Given the description of an element on the screen output the (x, y) to click on. 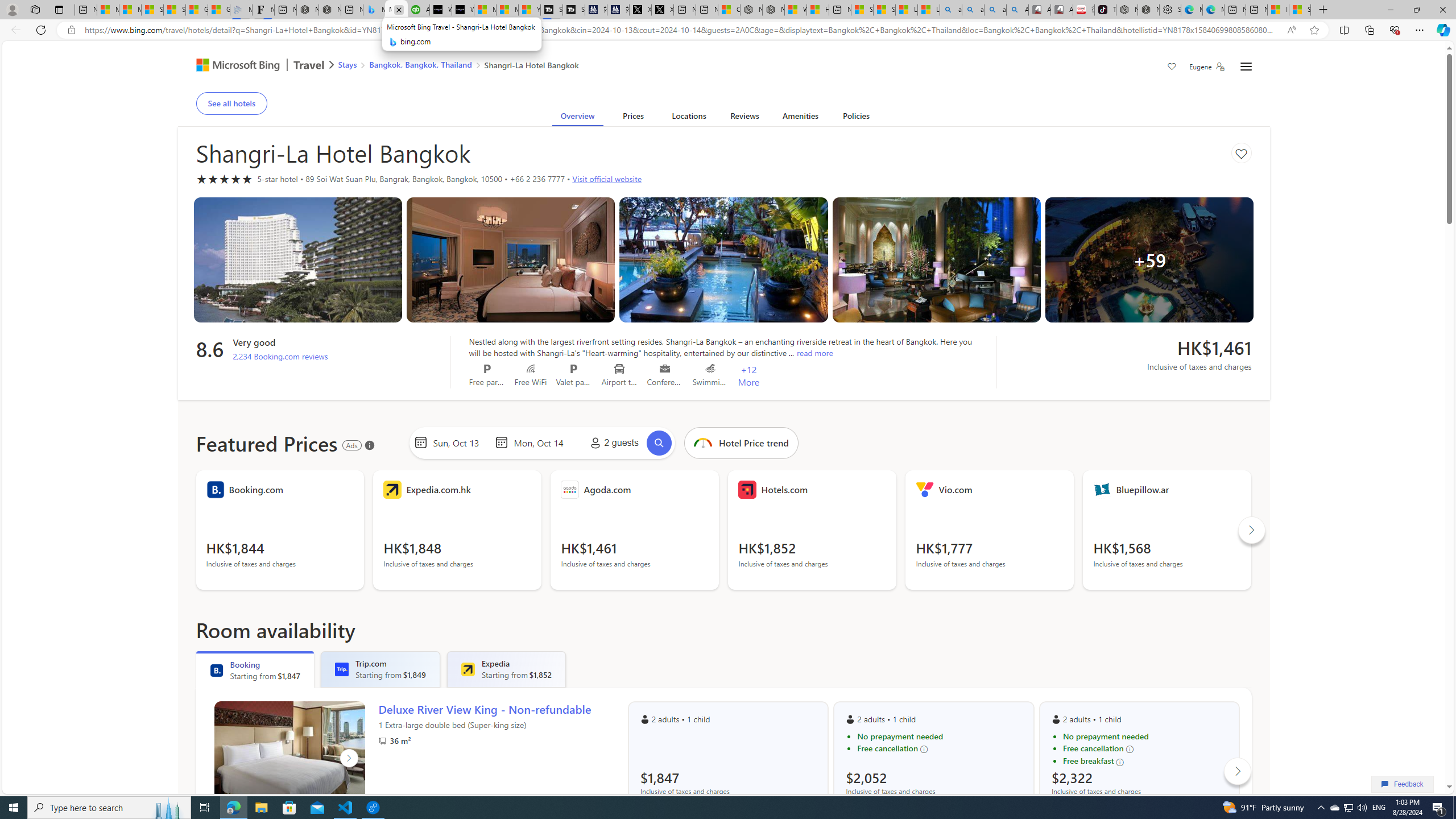
Click to scroll right (1238, 770)
Prices (633, 118)
Swimming pool (710, 368)
Shanghai, China weather forecast | Microsoft Weather (174, 9)
New Tab (1323, 9)
Restore (1416, 9)
amazon - Search (972, 9)
All Cubot phones (1061, 9)
Policies (855, 118)
Airport transportation (619, 368)
Copilot (Ctrl+Shift+.) (1442, 29)
See all hotels (231, 102)
Nordace - Best Sellers (1126, 9)
